Given the description of an element on the screen output the (x, y) to click on. 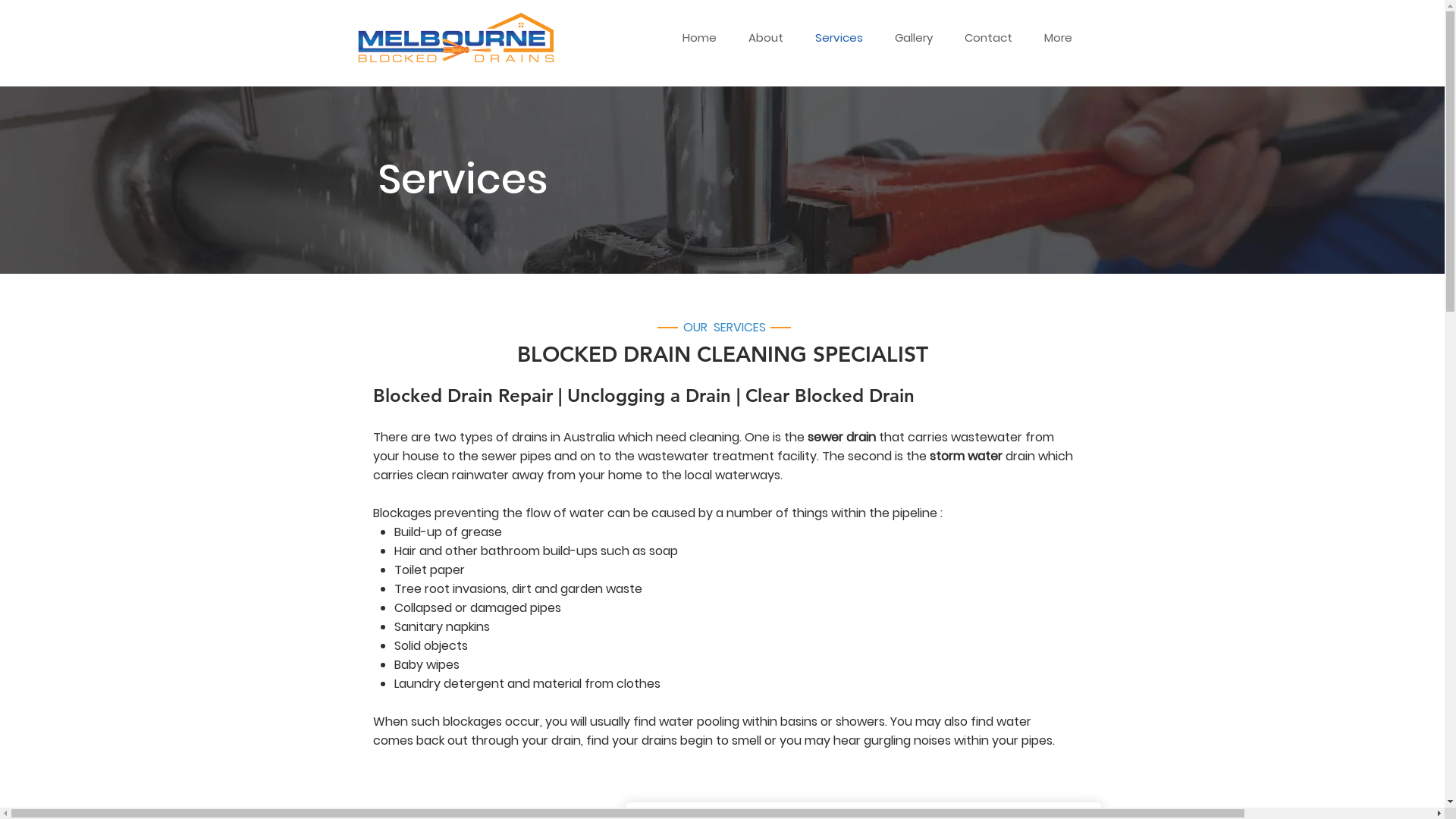
About Element type: text (770, 37)
Home Element type: text (703, 37)
Melbourne Blocked Drains (1).png Element type: hover (455, 37)
Gallery Element type: text (917, 37)
Services Element type: text (843, 37)
Contact Element type: text (992, 37)
